Given the description of an element on the screen output the (x, y) to click on. 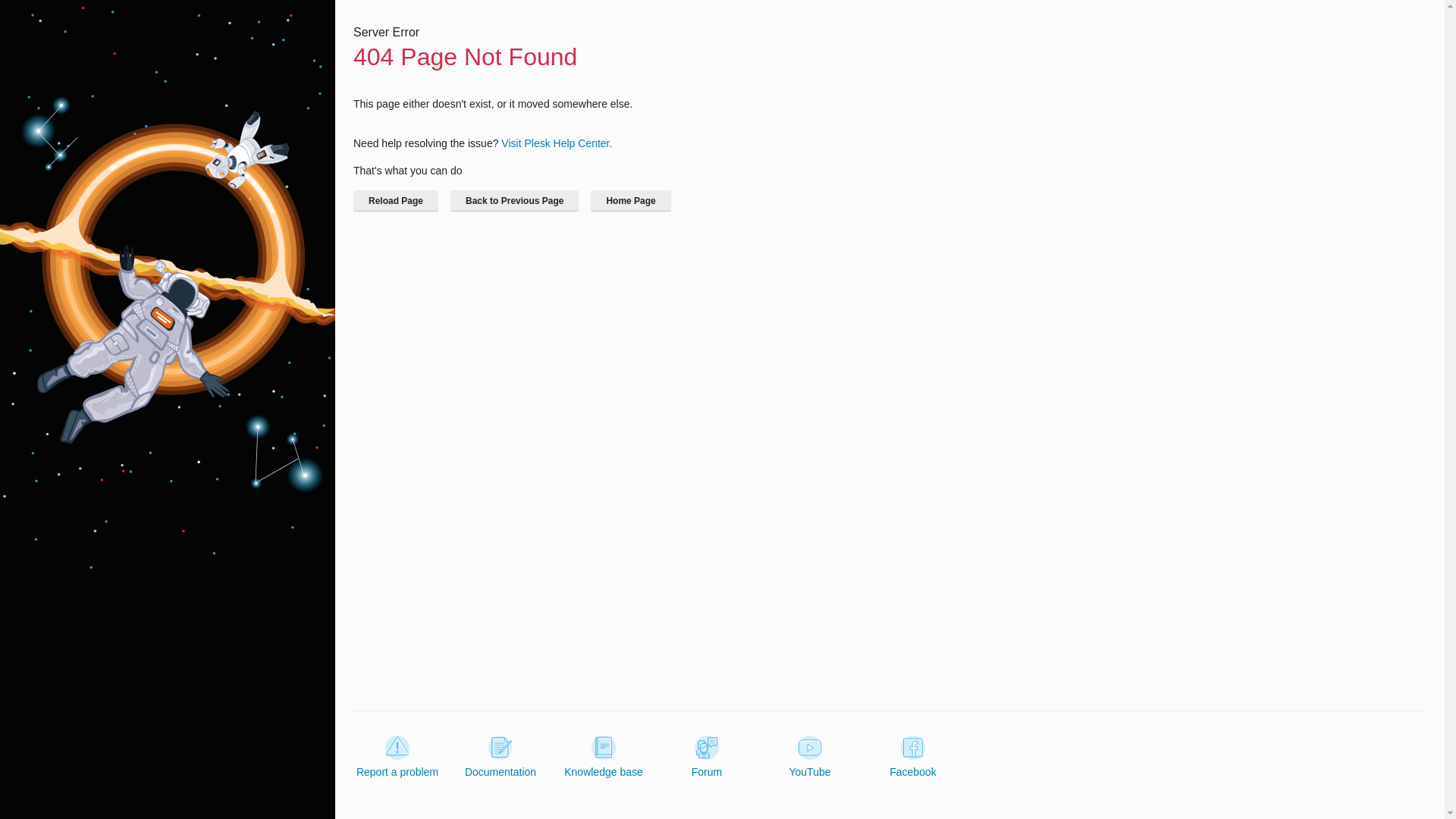
YouTube (809, 757)
Report a problem (397, 757)
Back to Previous Page (513, 200)
Visit Plesk Help Center. (555, 143)
Documentation (500, 757)
Reload Page (395, 200)
Home Page (630, 200)
Forum (706, 757)
Knowledge base (603, 757)
Facebook (912, 757)
